Given the description of an element on the screen output the (x, y) to click on. 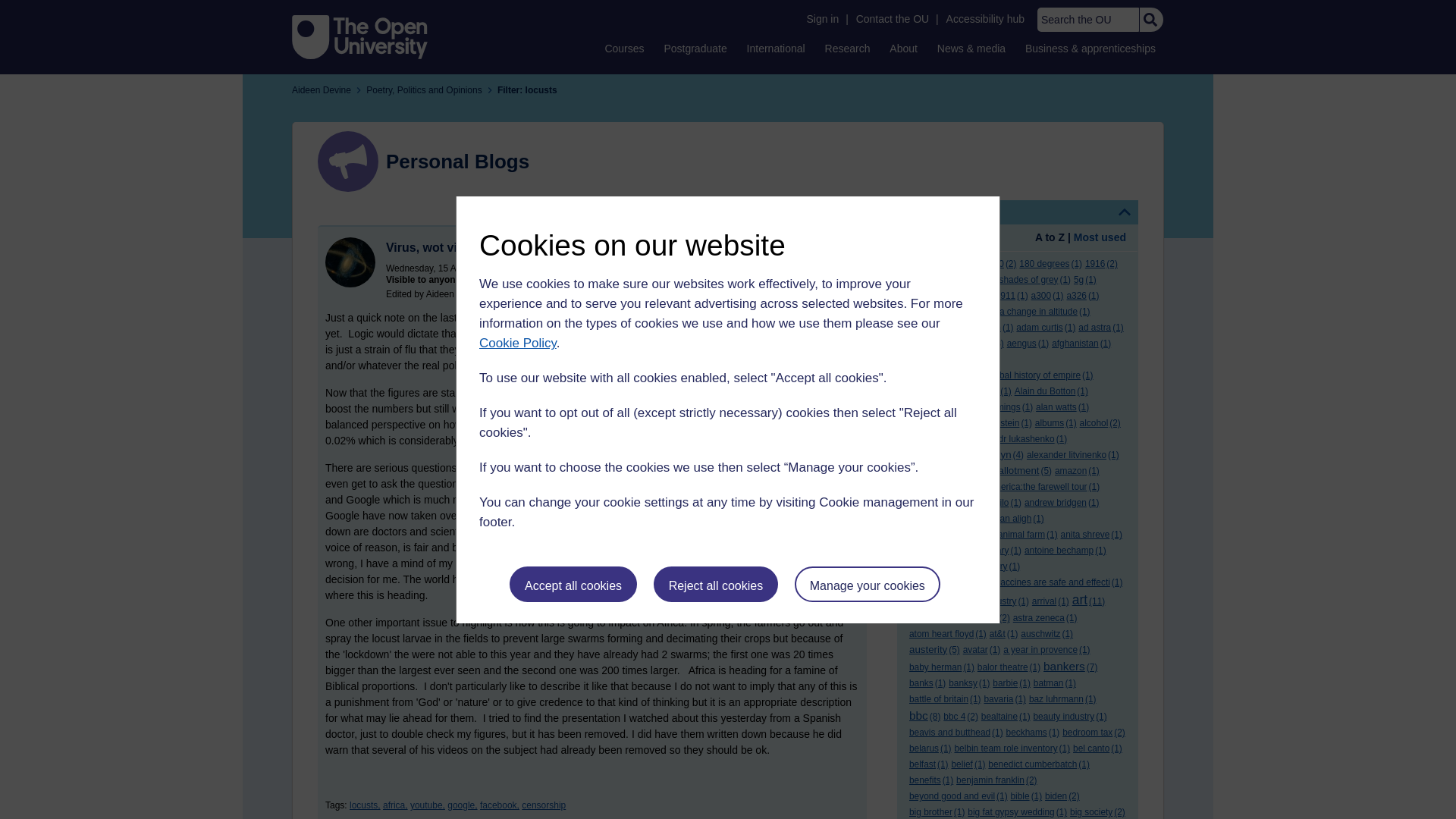
Tags (1017, 211)
Weddin (349, 261)
Research (847, 48)
Courses (623, 48)
Cookie Policy (517, 342)
Sign in (822, 19)
Reject all cookies (715, 583)
Postgraduate (695, 48)
Accessibility hub (985, 19)
Accept all cookies (573, 583)
